Given the description of an element on the screen output the (x, y) to click on. 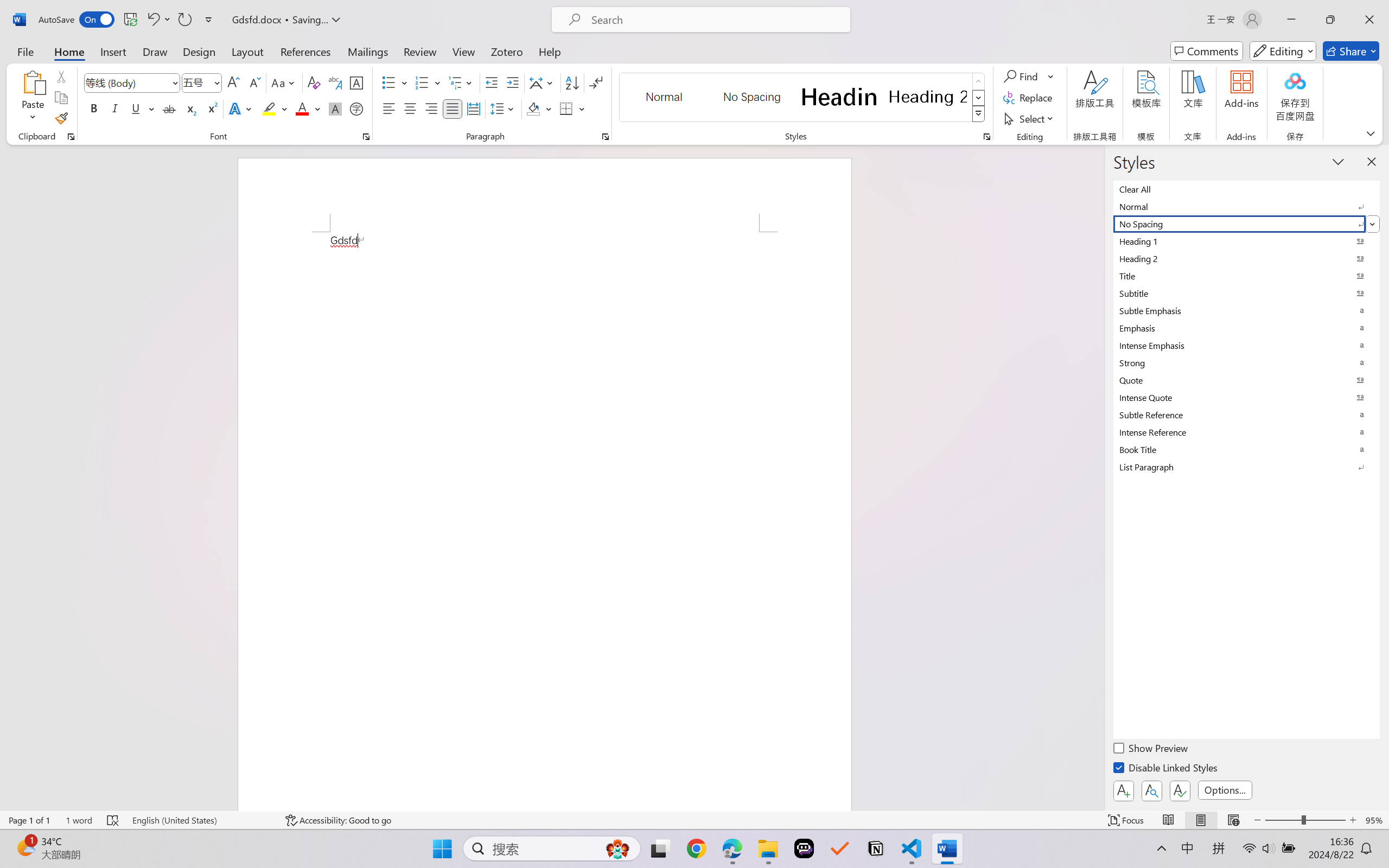
Shrink Font (253, 82)
Spelling and Grammar Check Errors (113, 819)
No Spacing (1246, 223)
AutomationID: QuickStylesGallery (802, 97)
Copy (60, 97)
Shading (539, 108)
Shading RGB(0, 0, 0) (533, 108)
Bold (94, 108)
